Given the description of an element on the screen output the (x, y) to click on. 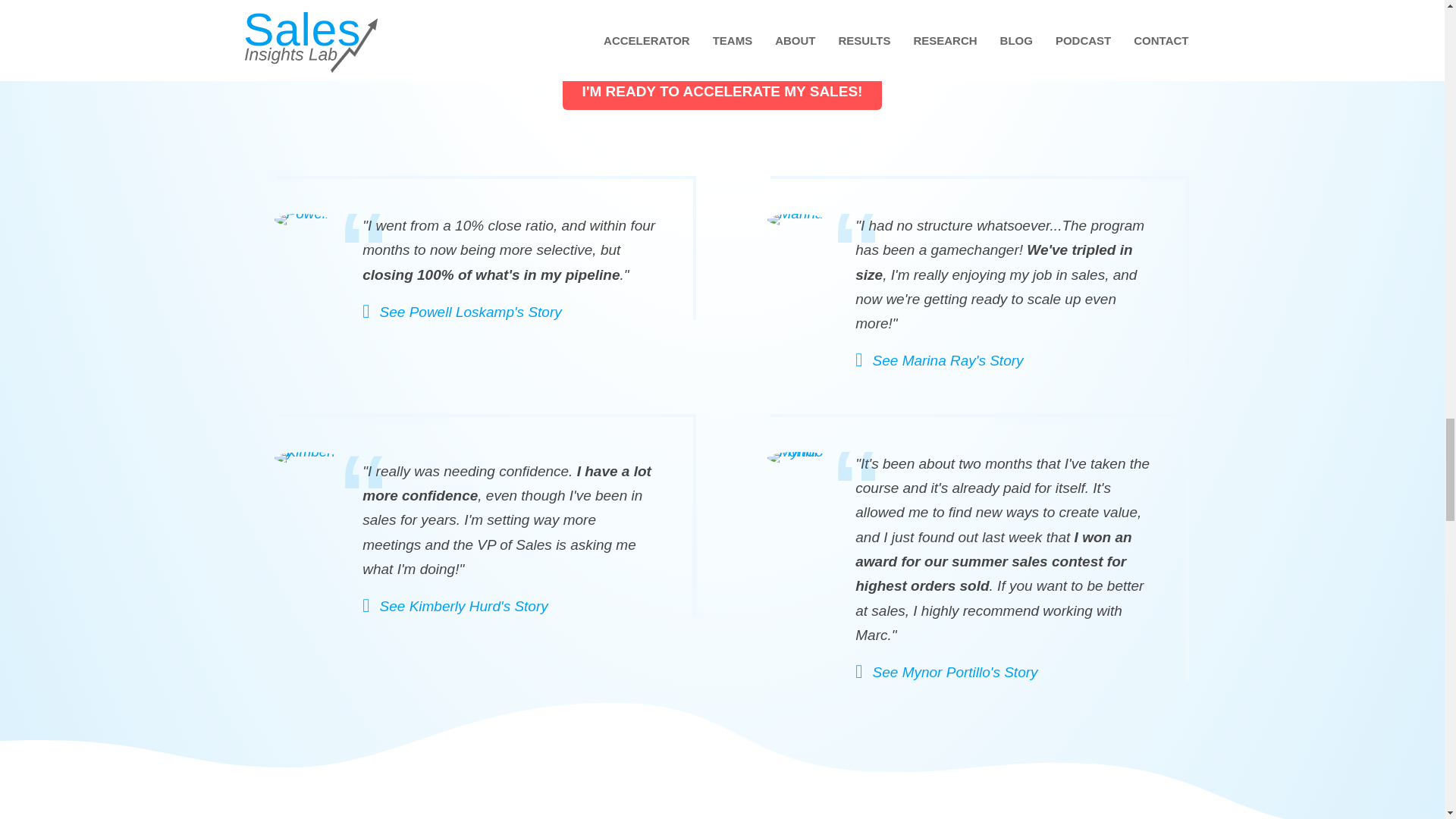
See Kimberly Hurd'S Story (455, 606)
I'M READY TO ACCELERATE MY SALES! (722, 90)
See Mynor Portillo'S Story (946, 671)
See Powell Loskamp'S Story (462, 311)
Marina (795, 219)
See Marina Ray'S Story (939, 360)
Powell (302, 219)
Kimberly (307, 458)
Mynor Portillo (799, 458)
